Given the description of an element on the screen output the (x, y) to click on. 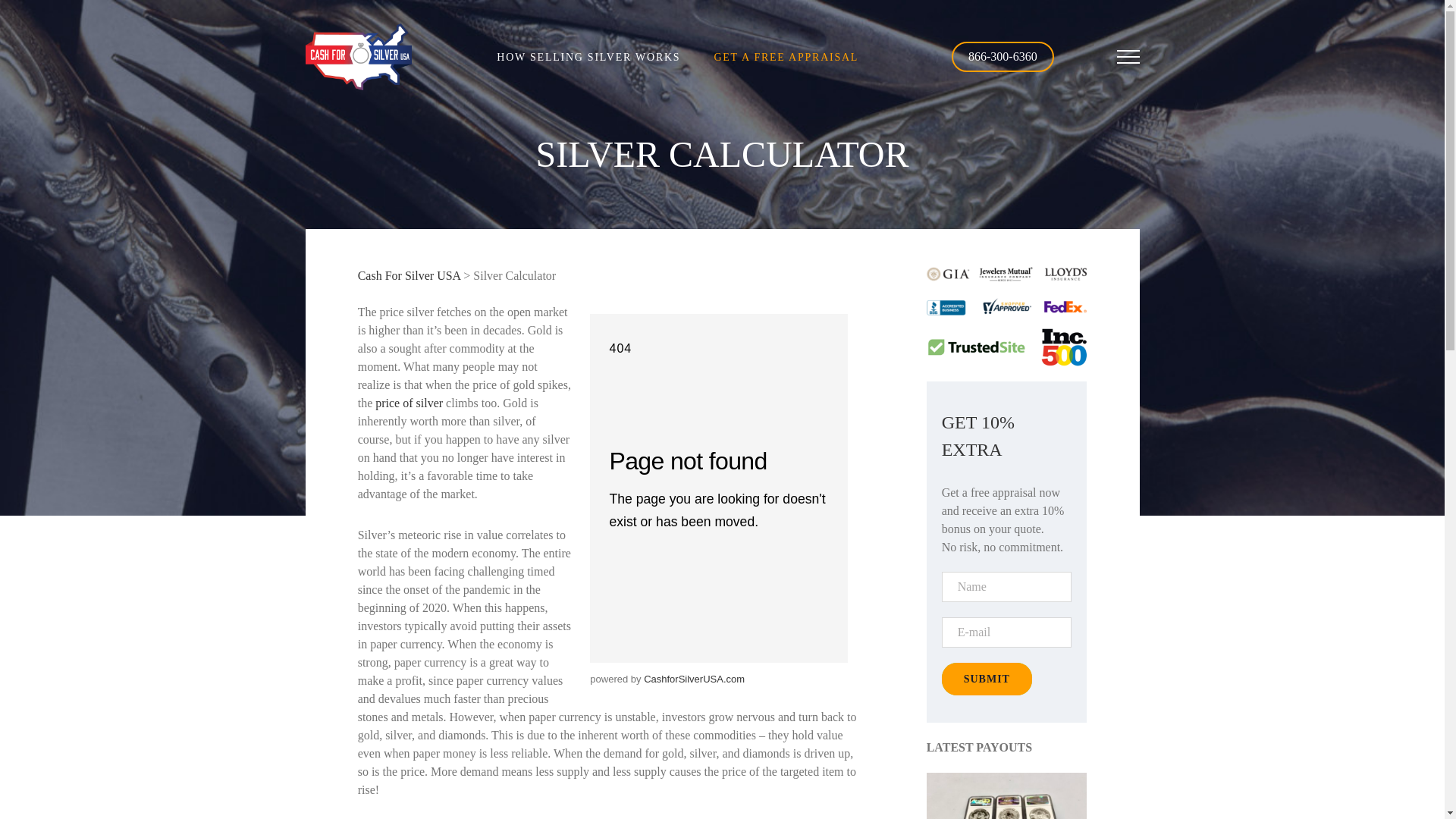
CashforSilverUSA.com (693, 678)
866-300-6360 (1002, 56)
HOW SELLING SILVER WORKS (587, 57)
GET A FREE APPRAISAL (786, 57)
Go to Cash For Silver USA. (409, 275)
SUBMIT (987, 678)
price of silver (408, 402)
Cash For Silver USA (409, 275)
